Given the description of an element on the screen output the (x, y) to click on. 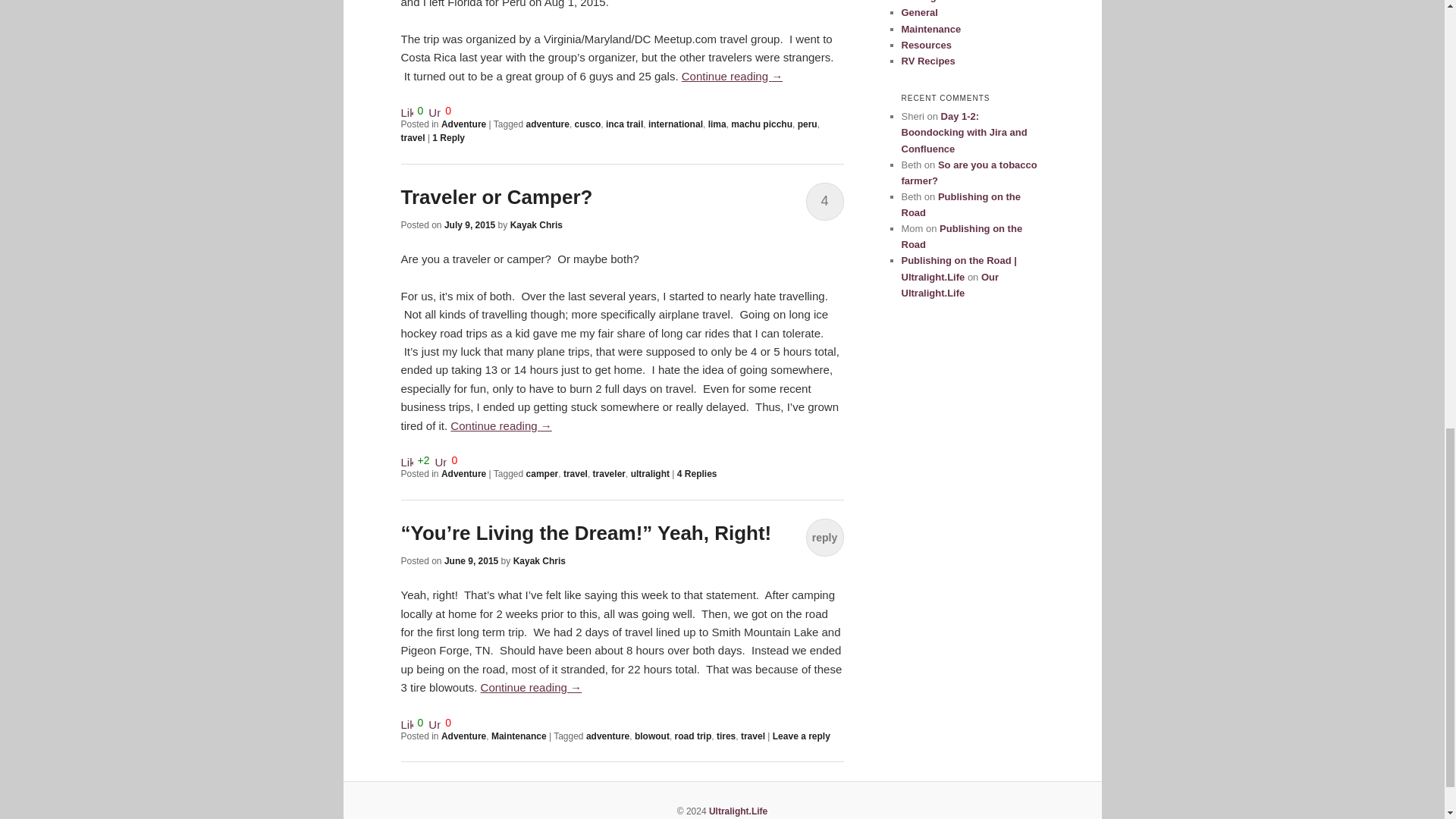
Adventure (463, 123)
machu picchu (761, 123)
Like (406, 110)
inca trail (624, 123)
Unlike (439, 459)
international (675, 123)
cusco (588, 123)
Like (406, 459)
View all posts by Kayak Chris (539, 561)
Unlike (434, 722)
View all posts by Kayak Chris (536, 225)
Like (406, 722)
Unlike (434, 110)
lima (716, 123)
adventure (547, 123)
